Given the description of an element on the screen output the (x, y) to click on. 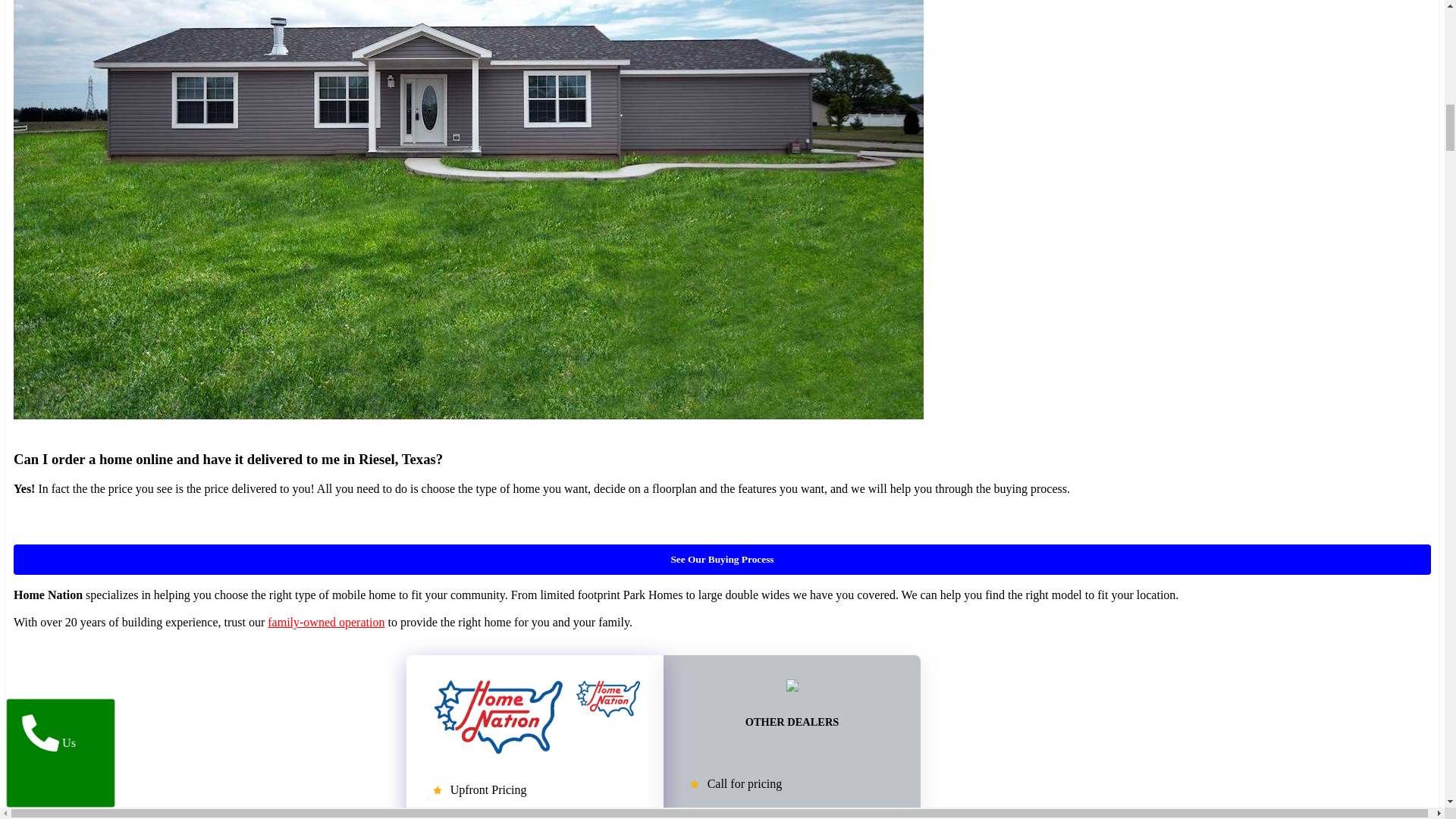
See Our Buying Process (722, 559)
family-owned operation (325, 621)
